Given the description of an element on the screen output the (x, y) to click on. 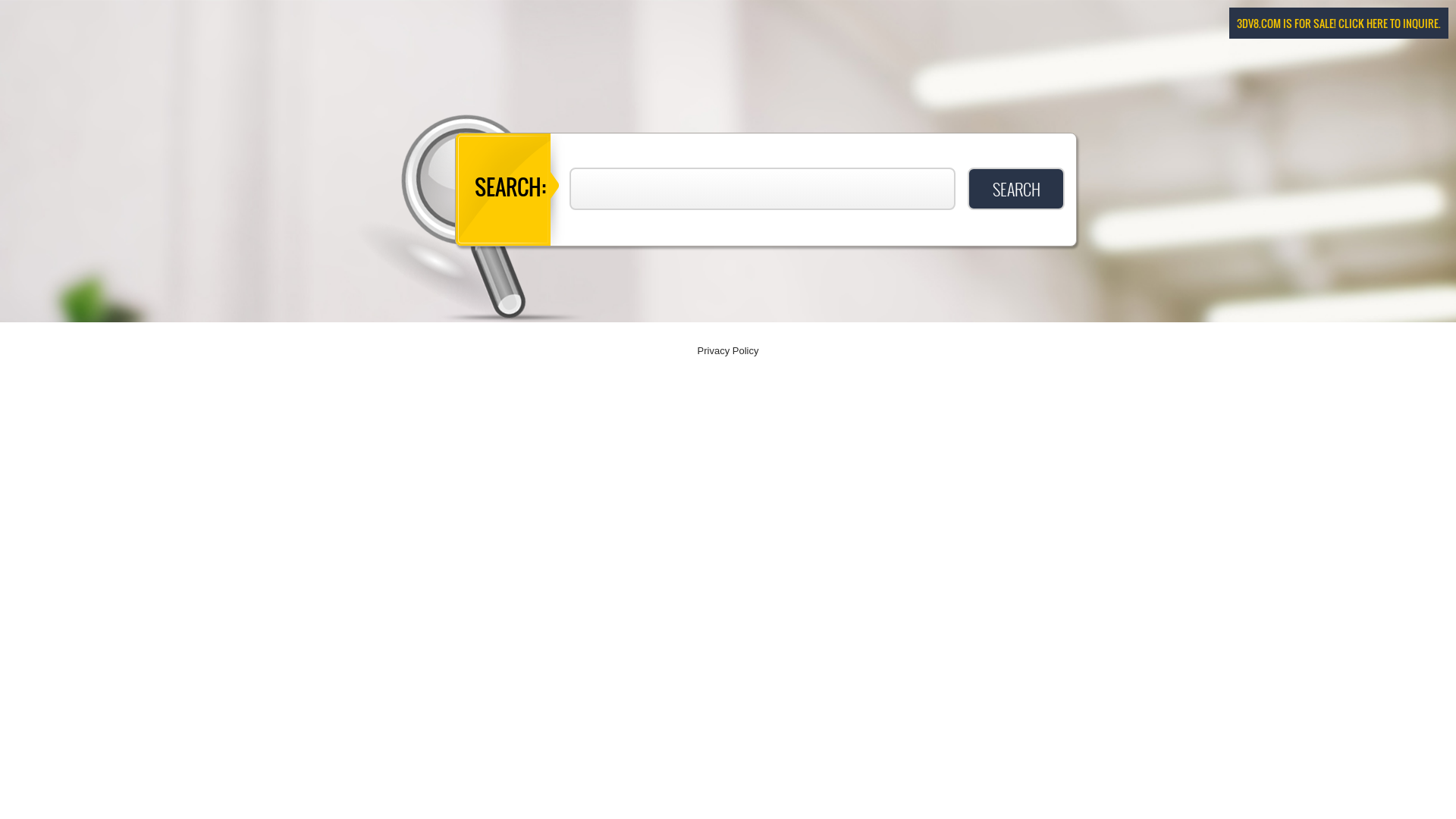
3DV8.COM IS FOR SALE! CLICK HERE TO INQUIRE. Element type: text (1338, 23)
Search Element type: text (1015, 188)
